Given the description of an element on the screen output the (x, y) to click on. 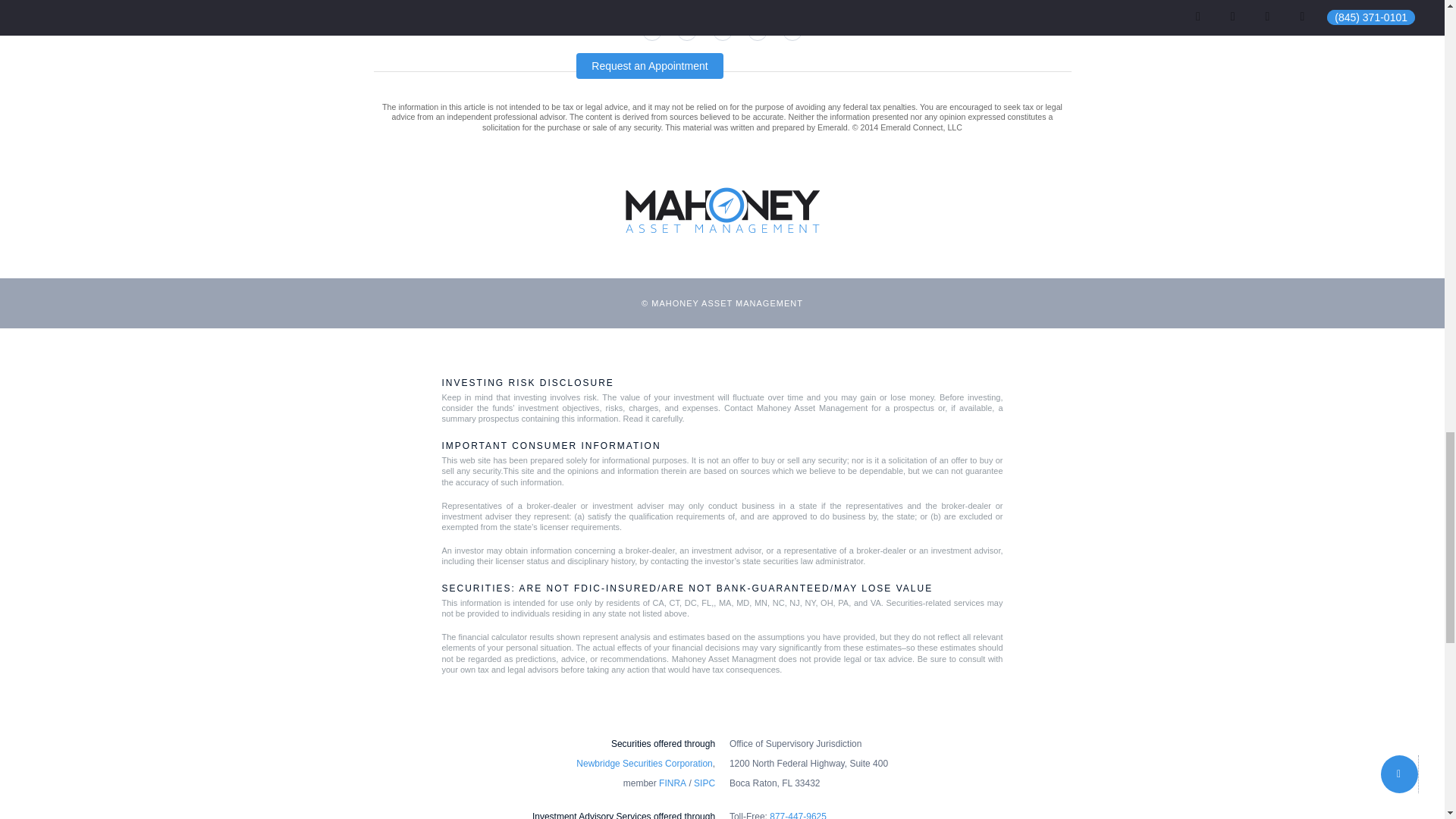
8 (730, 30)
FINRA (672, 783)
2 (694, 4)
4 (765, 4)
6 (659, 30)
3 (730, 4)
SIPC (704, 783)
9 (765, 30)
1 (659, 4)
5 (792, 4)
